Given the description of an element on the screen output the (x, y) to click on. 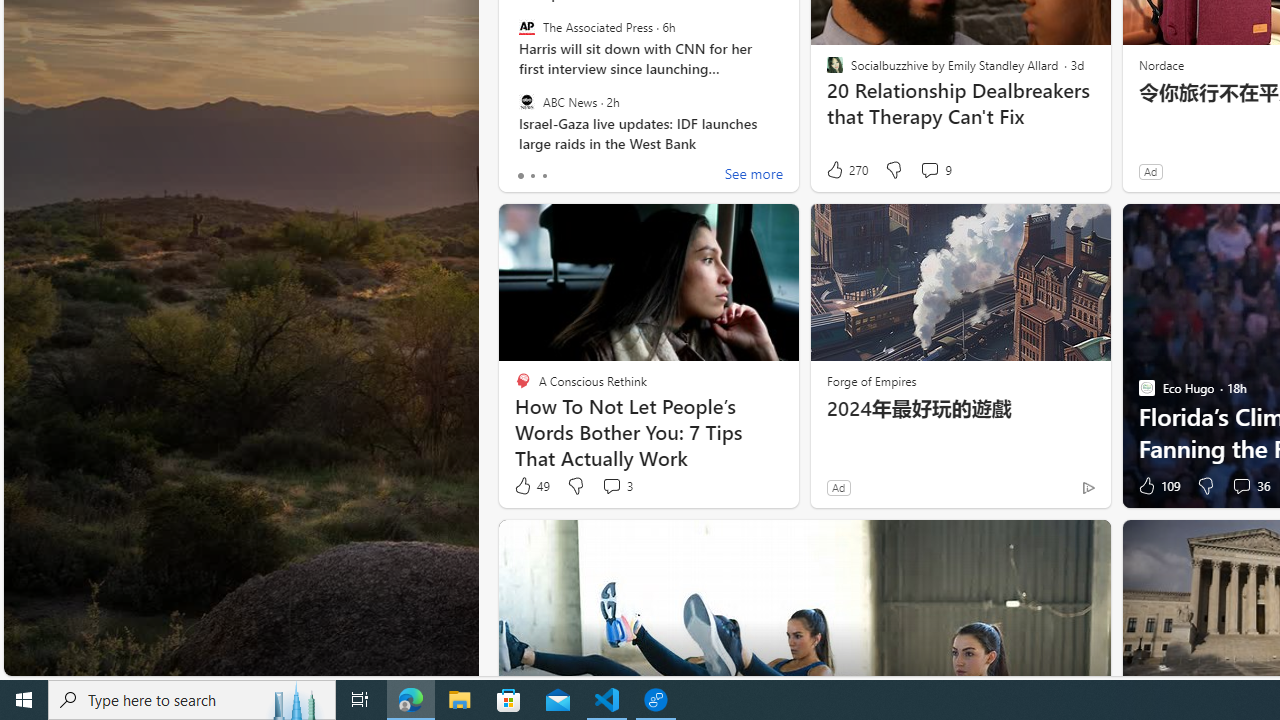
109 Like (1157, 485)
Dislike (1204, 485)
Ad (838, 487)
The Associated Press (526, 27)
View comments 3 Comment (616, 485)
49 Like (531, 485)
View comments 36 Comment (1241, 485)
tab-1 (532, 175)
270 Like (845, 170)
tab-0 (520, 175)
tab-2 (543, 175)
ABC News (526, 101)
